Given the description of an element on the screen output the (x, y) to click on. 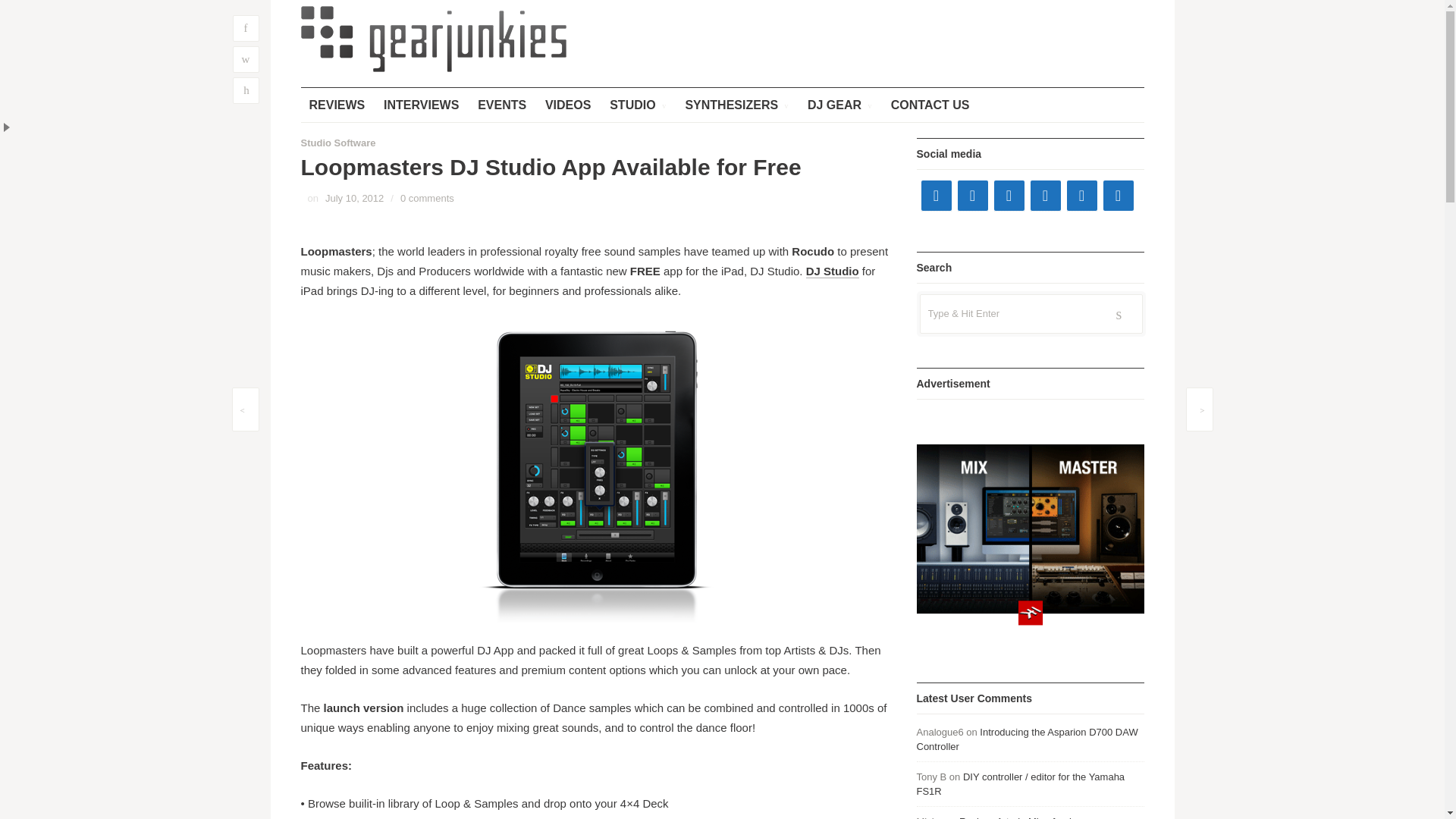
f (245, 28)
STUDIO (637, 104)
w (245, 58)
Studio Software (337, 142)
DJ Studio (832, 271)
INTERVIEWS (421, 104)
SYNTHESIZERS (736, 104)
loopmasters free ipad app - dj studio (832, 271)
CONTACT US (930, 104)
Permalink to Loopmasters DJ Studio App Available for Free (354, 197)
